Given the description of an element on the screen output the (x, y) to click on. 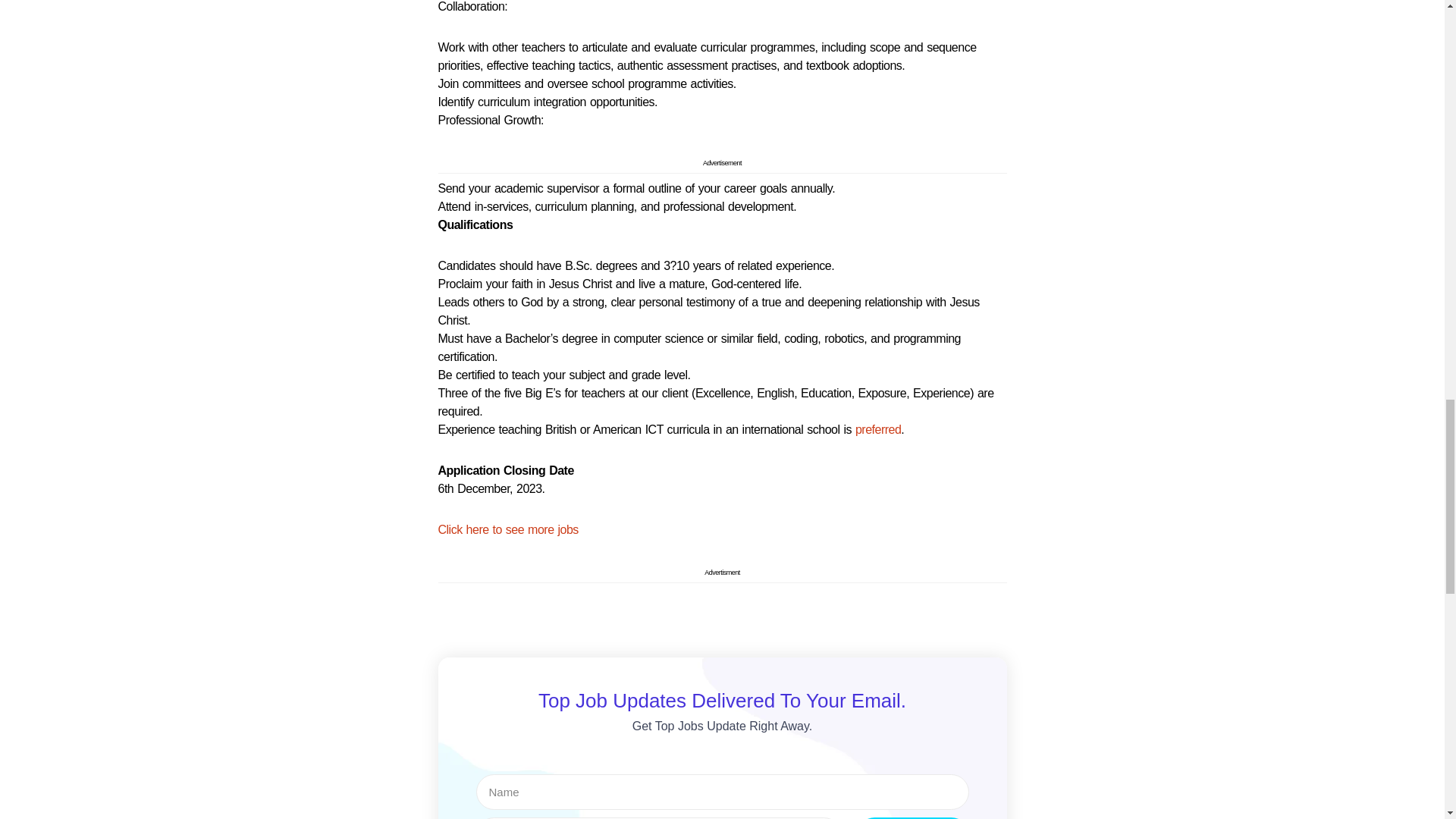
preferred (878, 429)
Click here to see more jobs (508, 529)
Send (913, 818)
